Given the description of an element on the screen output the (x, y) to click on. 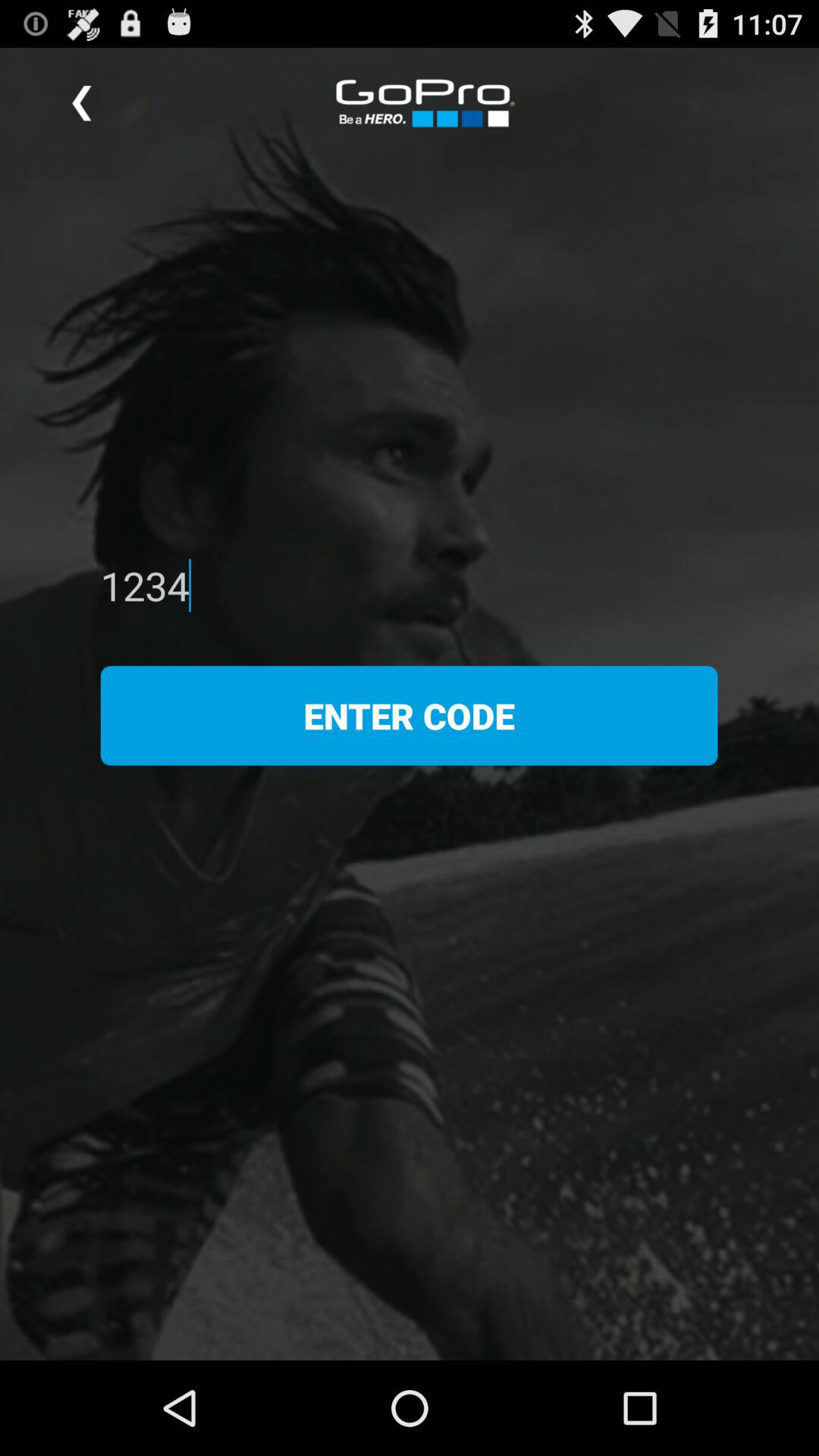
go back (81, 102)
